Given the description of an element on the screen output the (x, y) to click on. 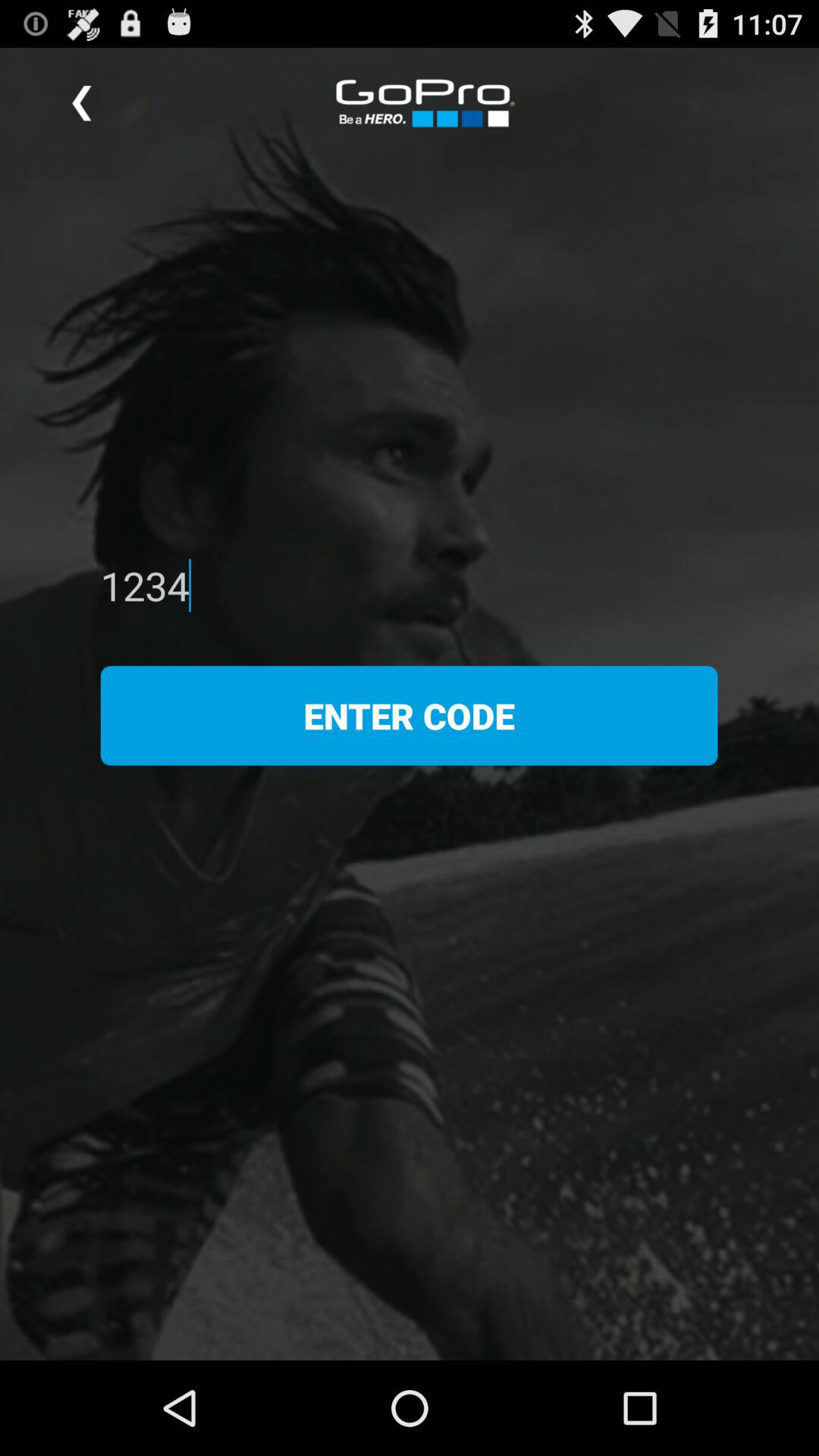
go back (81, 102)
